Given the description of an element on the screen output the (x, y) to click on. 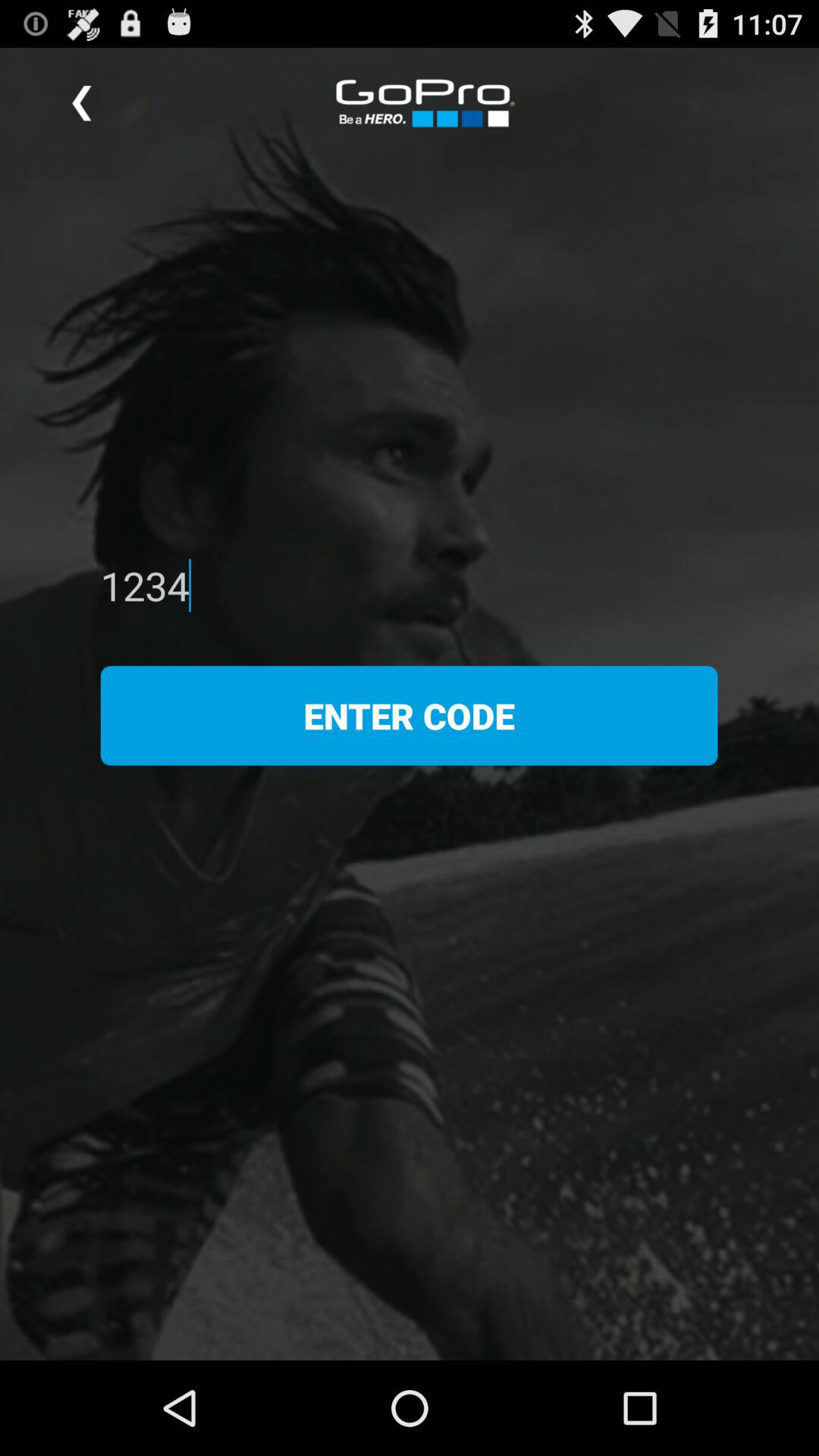
go back (81, 102)
